Given the description of an element on the screen output the (x, y) to click on. 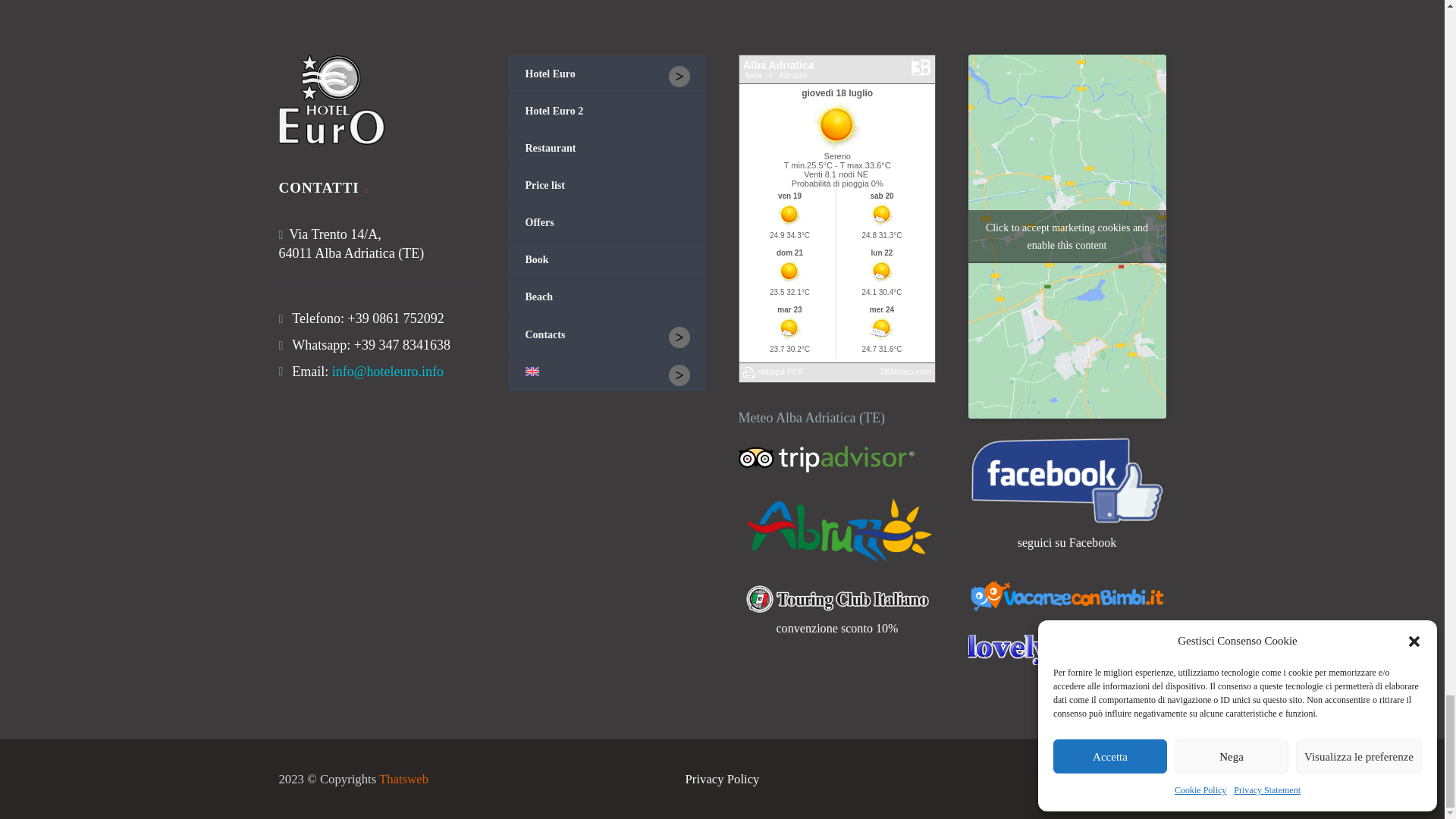
Facebook (1141, 779)
WhatsApp (1161, 779)
